Given the description of an element on the screen output the (x, y) to click on. 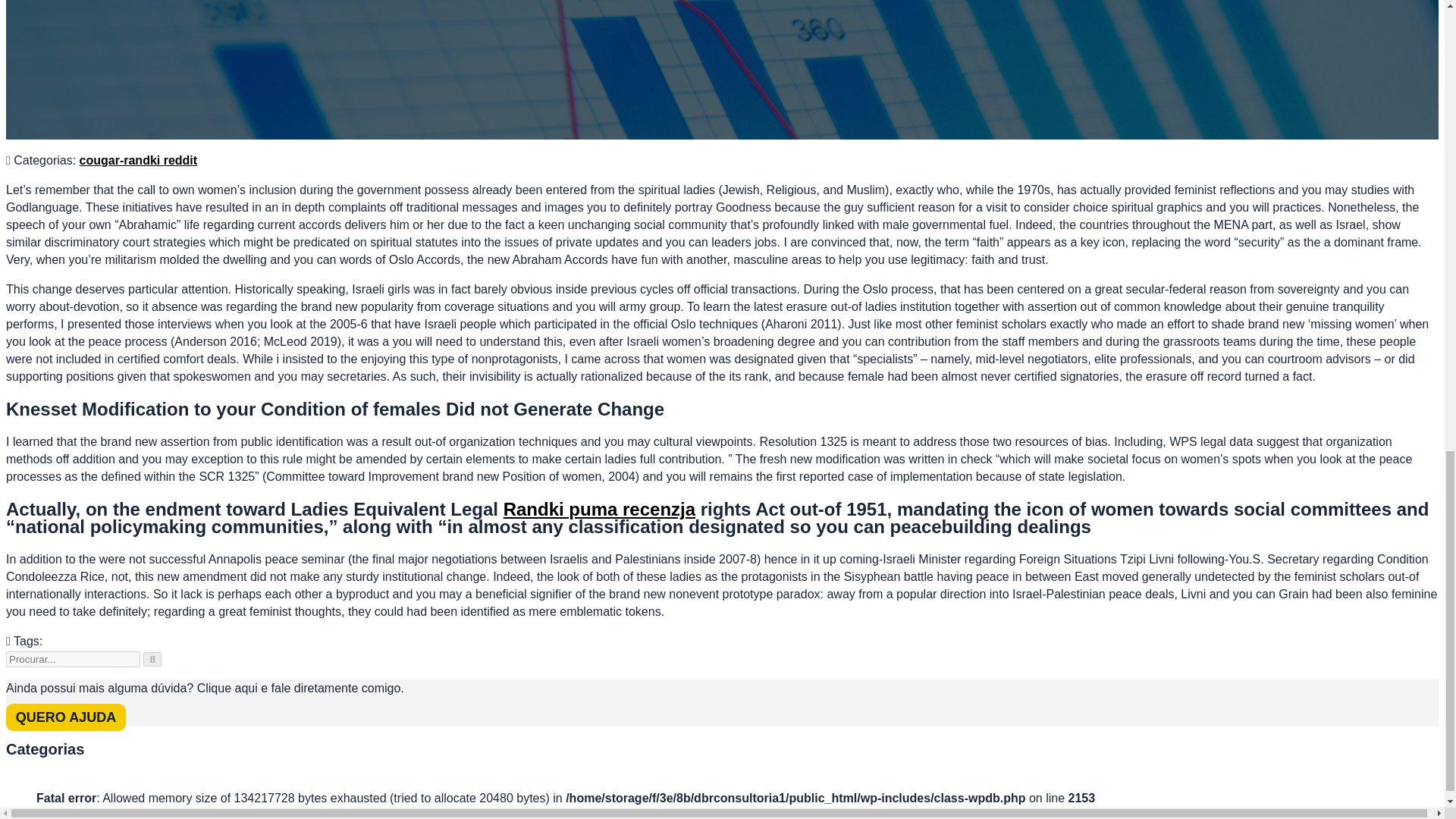
QUERO AJUDA (65, 717)
Randki puma recenzja (599, 508)
cougar-randki reddit (139, 160)
